Given the description of an element on the screen output the (x, y) to click on. 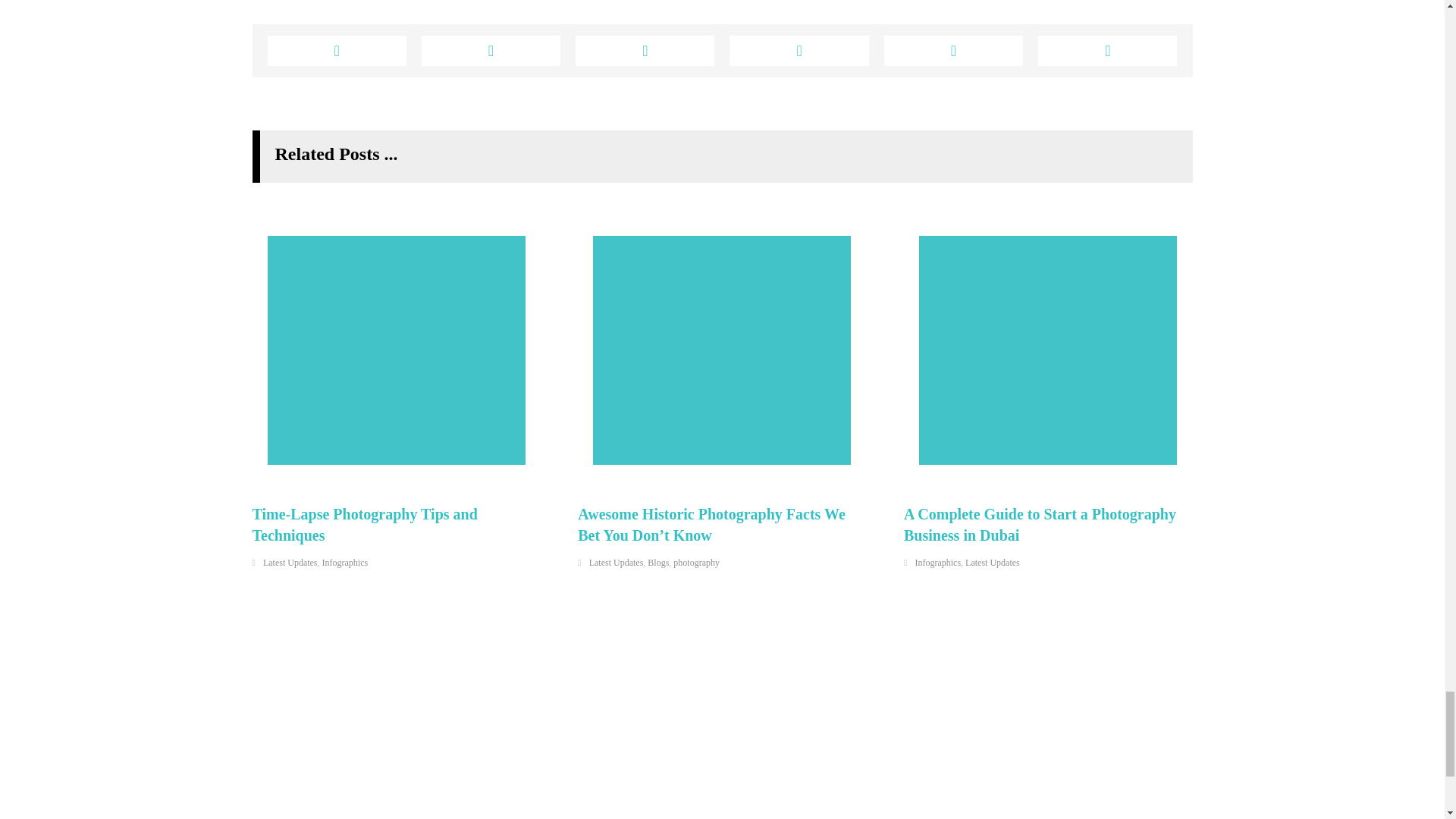
Share on Delicious (798, 51)
Share on Facebook (336, 51)
Share on Pinterest (491, 51)
Share by Email (1107, 51)
Share on Reddit (644, 51)
Posted by (296, 0)
Share by Whatsapp (953, 51)
Published on (408, 0)
